Given the description of an element on the screen output the (x, y) to click on. 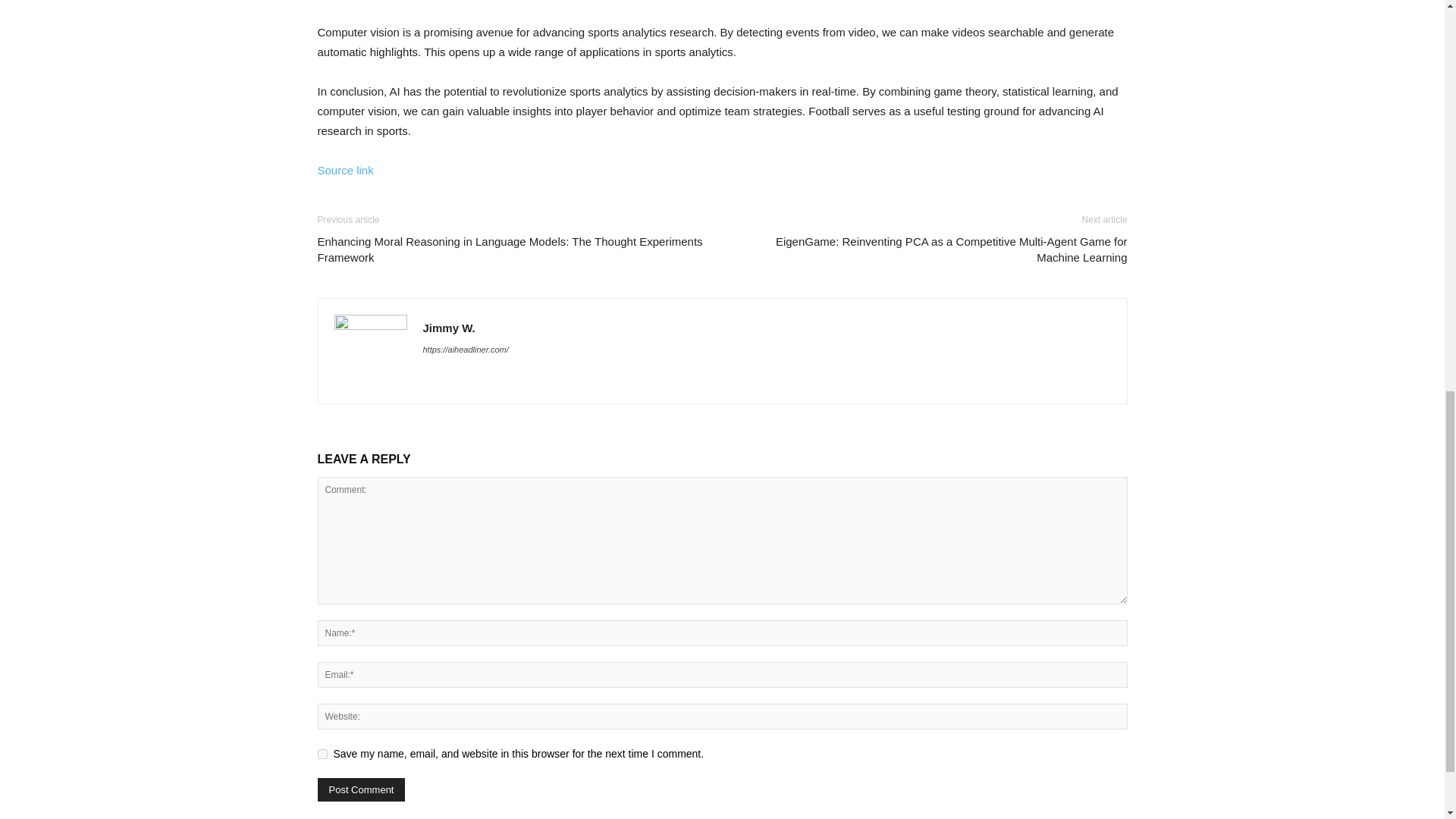
Source link (344, 169)
Post Comment (360, 789)
yes (321, 754)
Jimmy W. (449, 327)
Post Comment (360, 789)
